Given the description of an element on the screen output the (x, y) to click on. 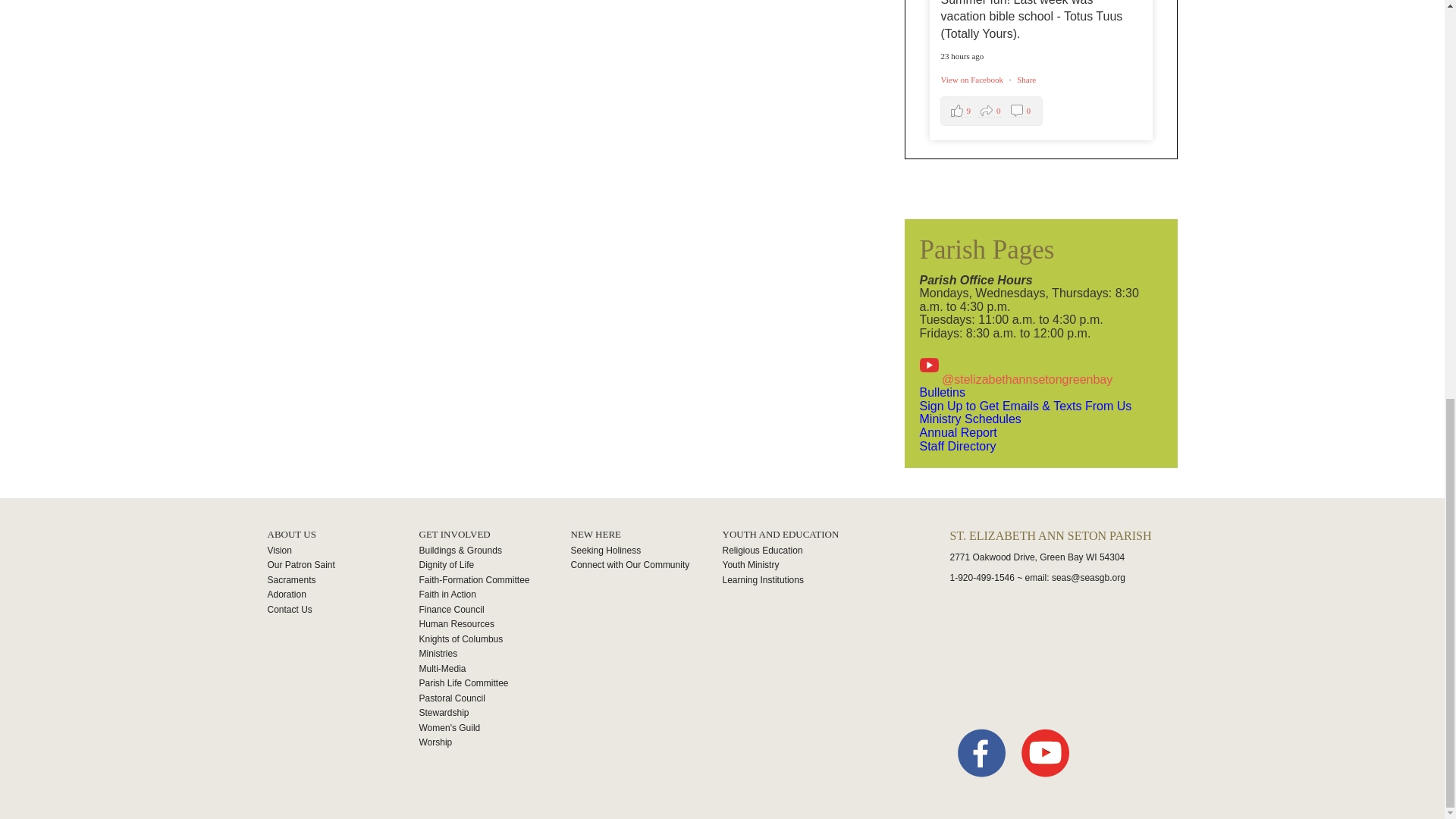
Sacraments (991, 111)
Ministry Schedules (342, 580)
Contact Us (969, 418)
View on Facebook (342, 610)
Staff Directory (972, 79)
Vision (956, 445)
Annual Report (342, 550)
Adoration (956, 431)
Our Patron Saint (342, 595)
View on Facebook (342, 565)
Bulletins (972, 79)
Share (940, 391)
Dignity of Life (1025, 79)
Share (494, 565)
